Given the description of an element on the screen output the (x, y) to click on. 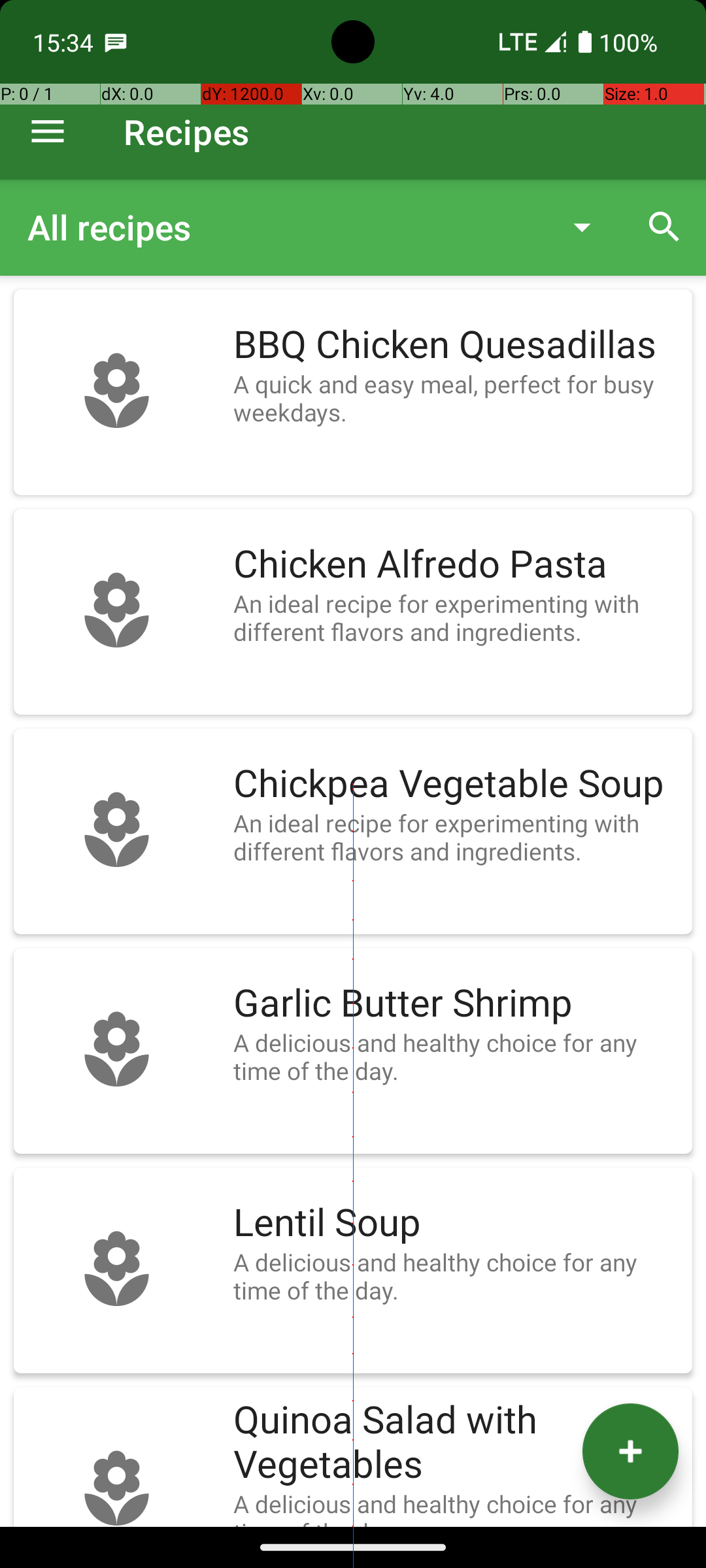
Garlic Butter Shrimp Element type: android.widget.TextView (455, 1003)
Quinoa Salad with Vegetables Element type: android.widget.TextView (455, 1442)
